Given the description of an element on the screen output the (x, y) to click on. 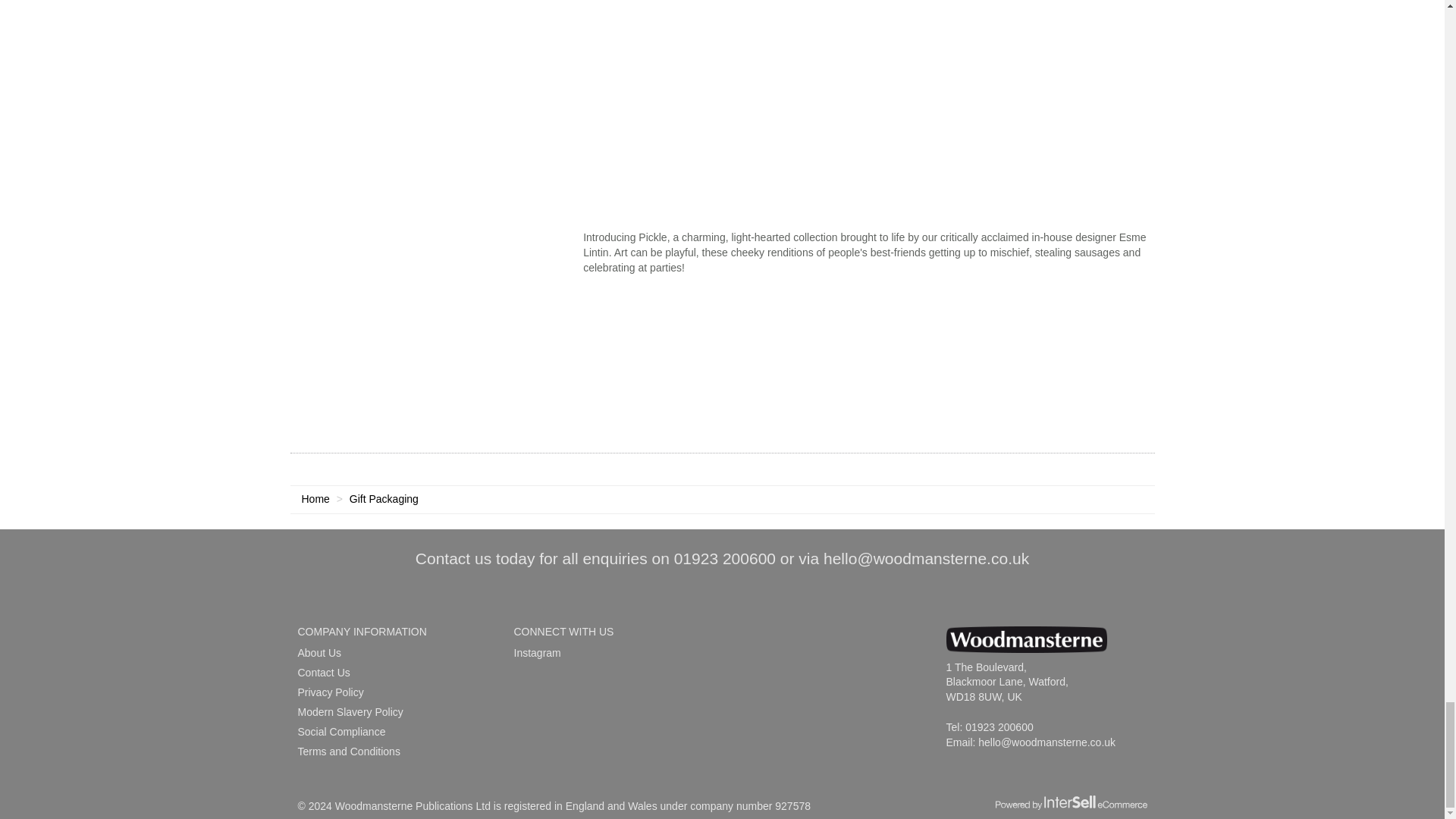
Powered By InterSell (1070, 802)
